Given the description of an element on the screen output the (x, y) to click on. 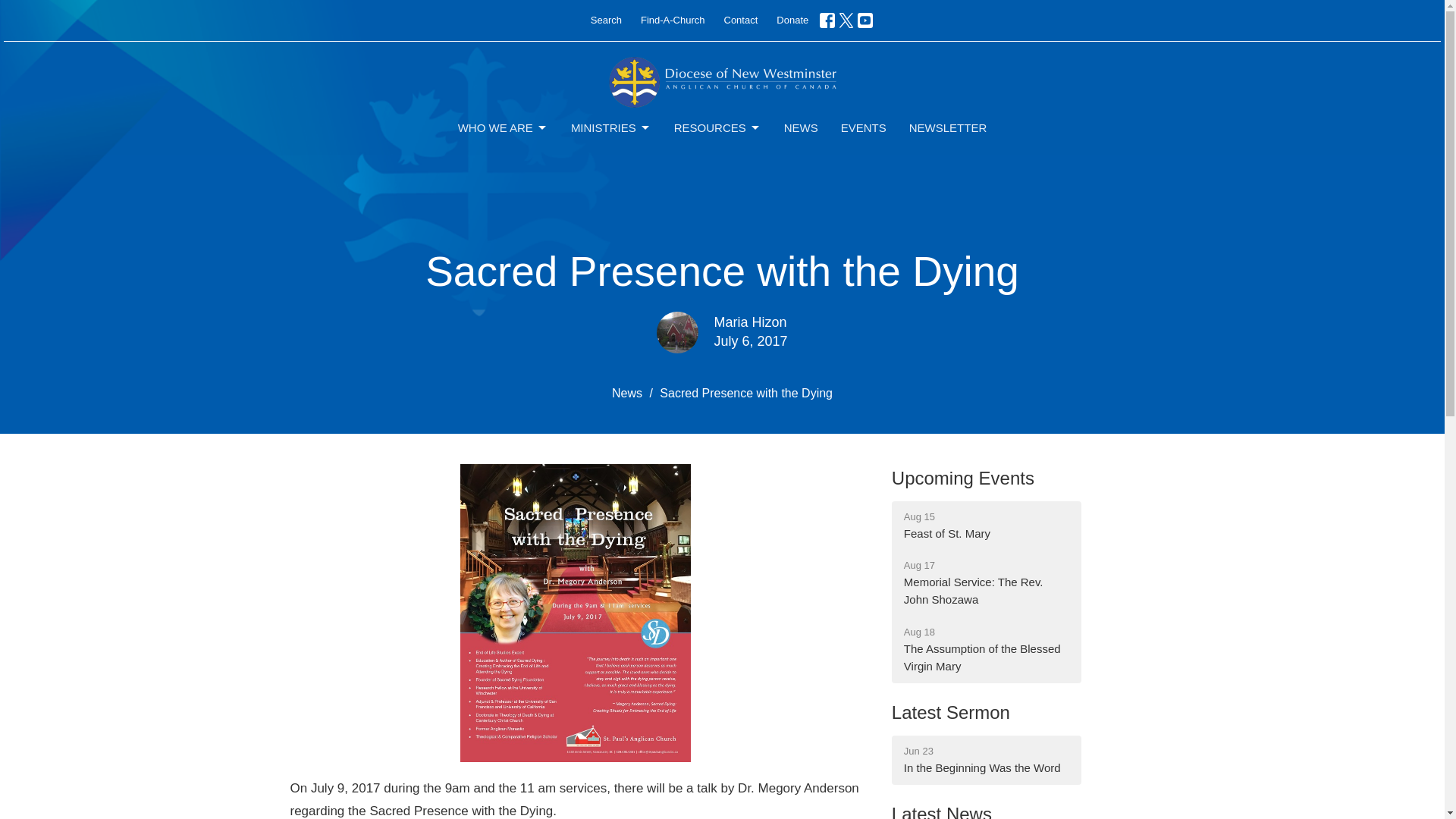
Contact (740, 20)
Upcoming Events (962, 477)
NEWSLETTER (947, 127)
MINISTRIES (610, 127)
Find-A-Church (673, 20)
NEWS (801, 127)
RESOURCES (717, 127)
Donate (791, 20)
Search (605, 20)
